Given the description of an element on the screen output the (x, y) to click on. 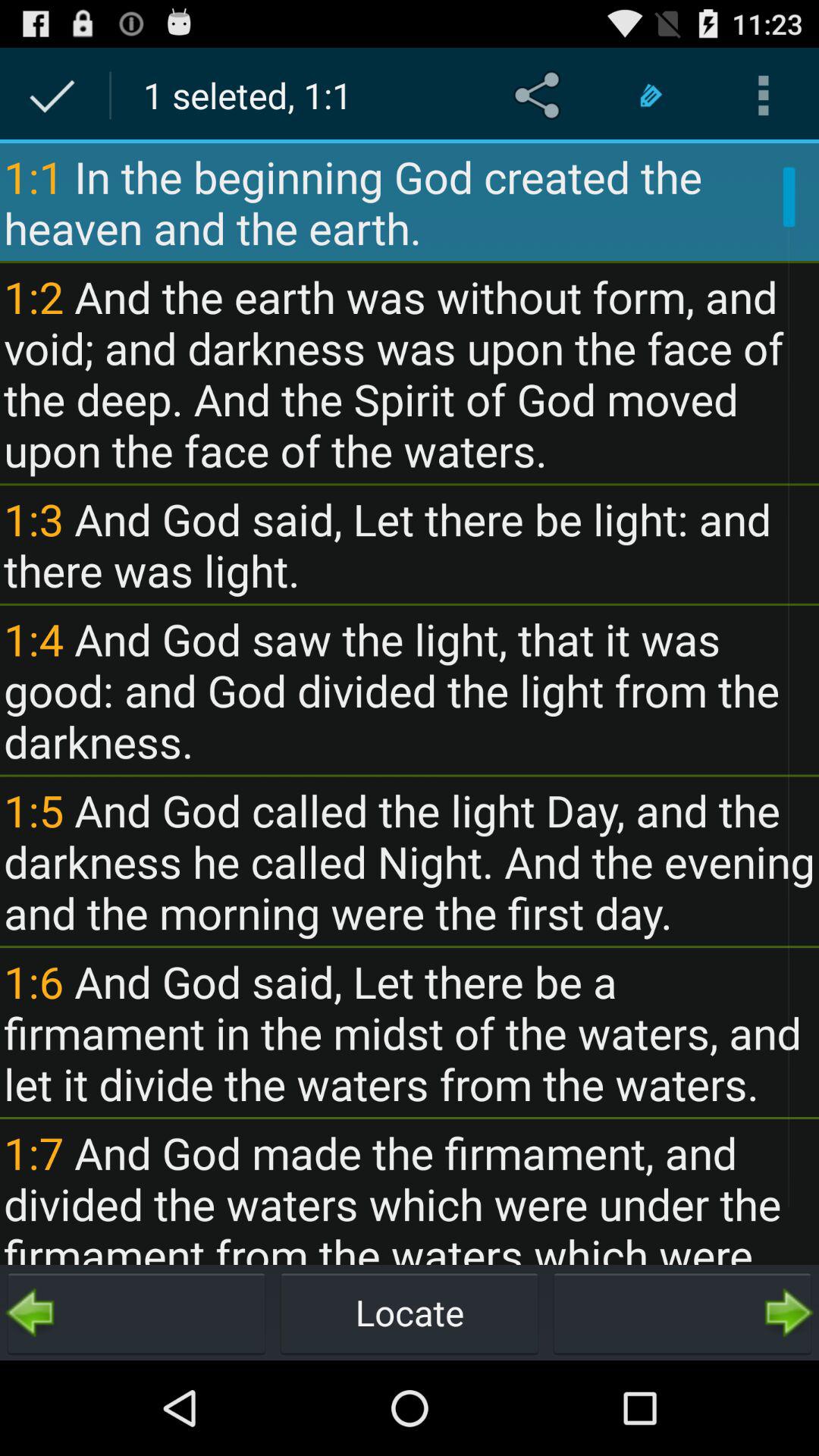
press the icon below the 1 7 and (136, 1312)
